Given the description of an element on the screen output the (x, y) to click on. 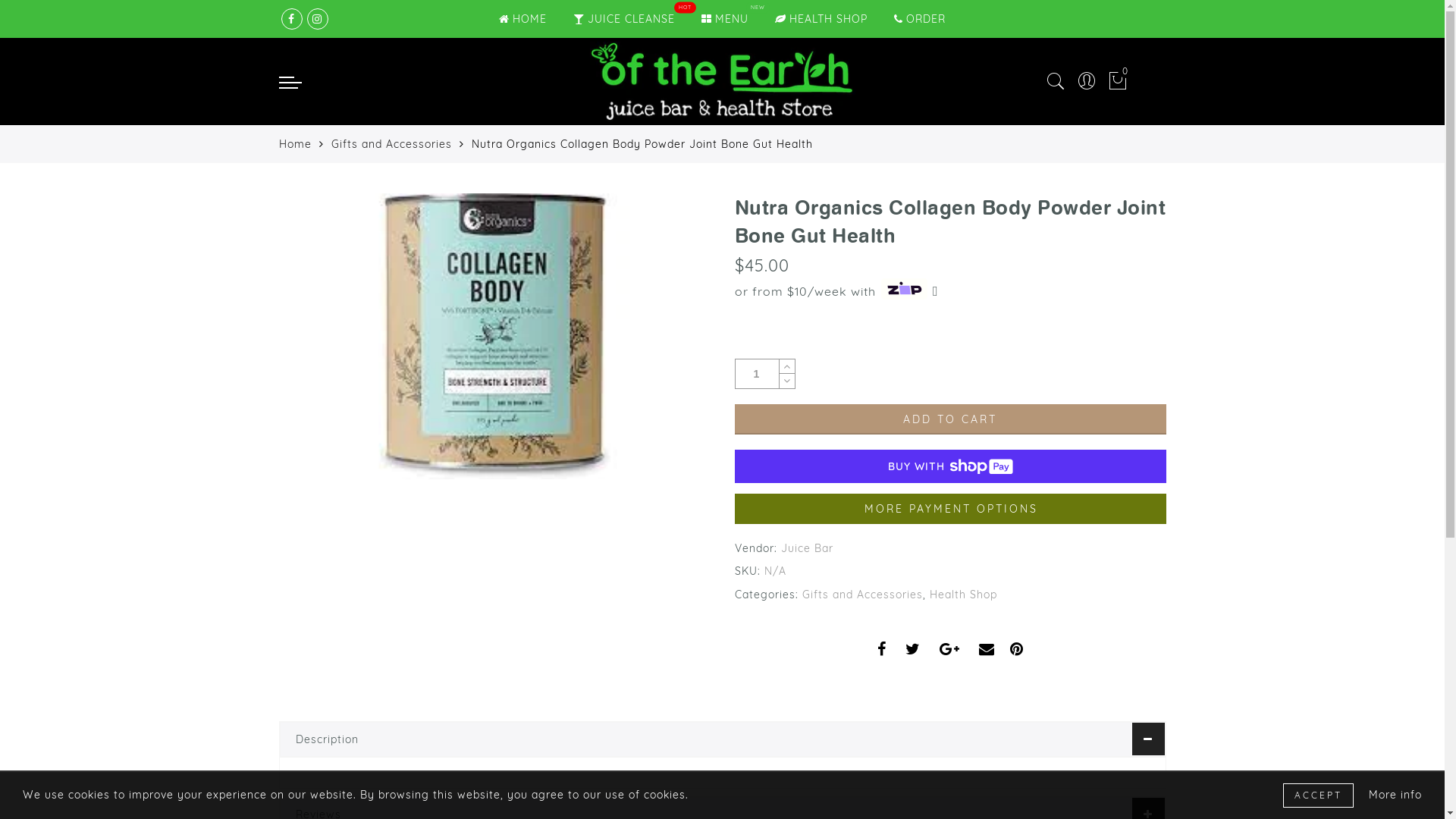
JUICE CLEANSE
HOT Element type: text (623, 18)
Juice Bar Element type: text (807, 548)
ACCEPT Element type: text (1318, 795)
ADD TO CART Element type: text (949, 419)
MENU
NEW Element type: text (724, 18)
MORE PAYMENT OPTIONS Element type: text (949, 508)
Description Element type: text (722, 739)
Home Element type: text (295, 143)
Qty Element type: hover (757, 374)
ORDER Element type: text (919, 18)
Gifts and Accessories Element type: text (862, 594)
More info Element type: text (1394, 794)
HOME Element type: text (522, 18)
HEALTH SHOP Element type: text (821, 18)
Gifts and Accessories Element type: text (390, 143)
0 Element type: text (1118, 81)
Health Shop Element type: text (963, 594)
